Given the description of an element on the screen output the (x, y) to click on. 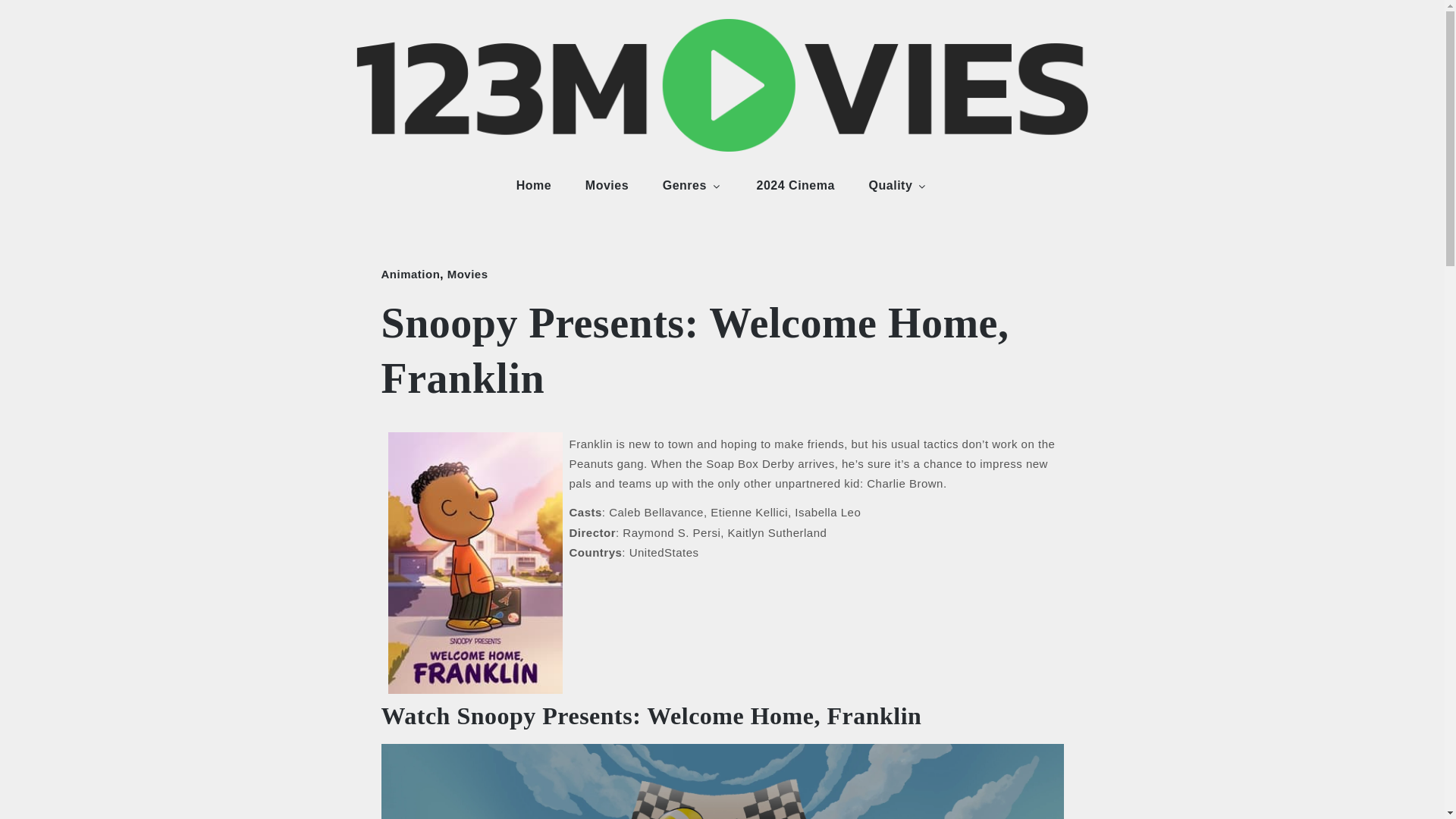
Home (533, 185)
Snoopy Presents: Welcome Home, Franklin (721, 781)
Movies (606, 185)
Quality (898, 185)
Genres (692, 185)
2024 Cinema (795, 185)
